Given the description of an element on the screen output the (x, y) to click on. 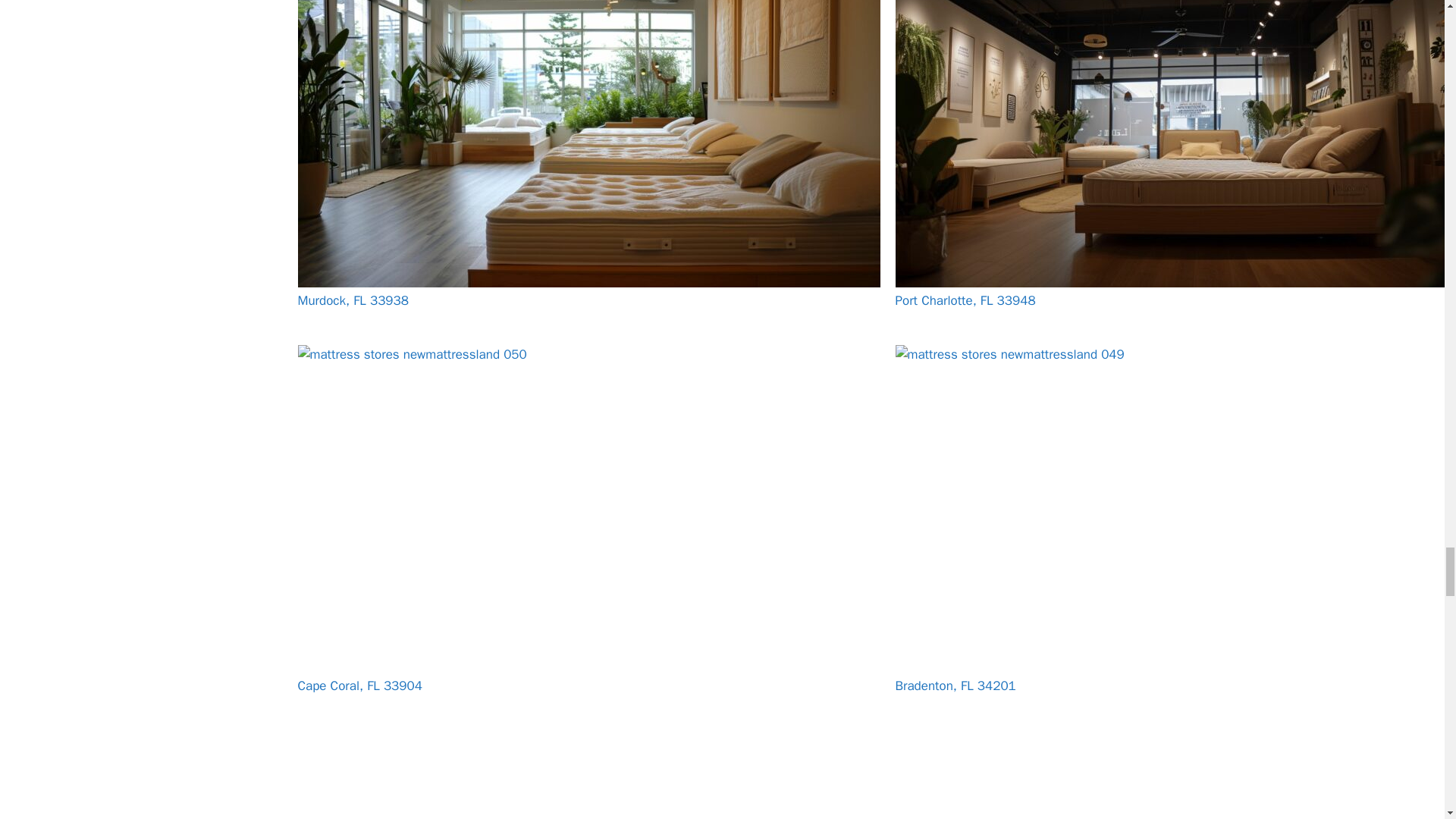
Murdock, FL 33938 (352, 300)
